Given the description of an element on the screen output the (x, y) to click on. 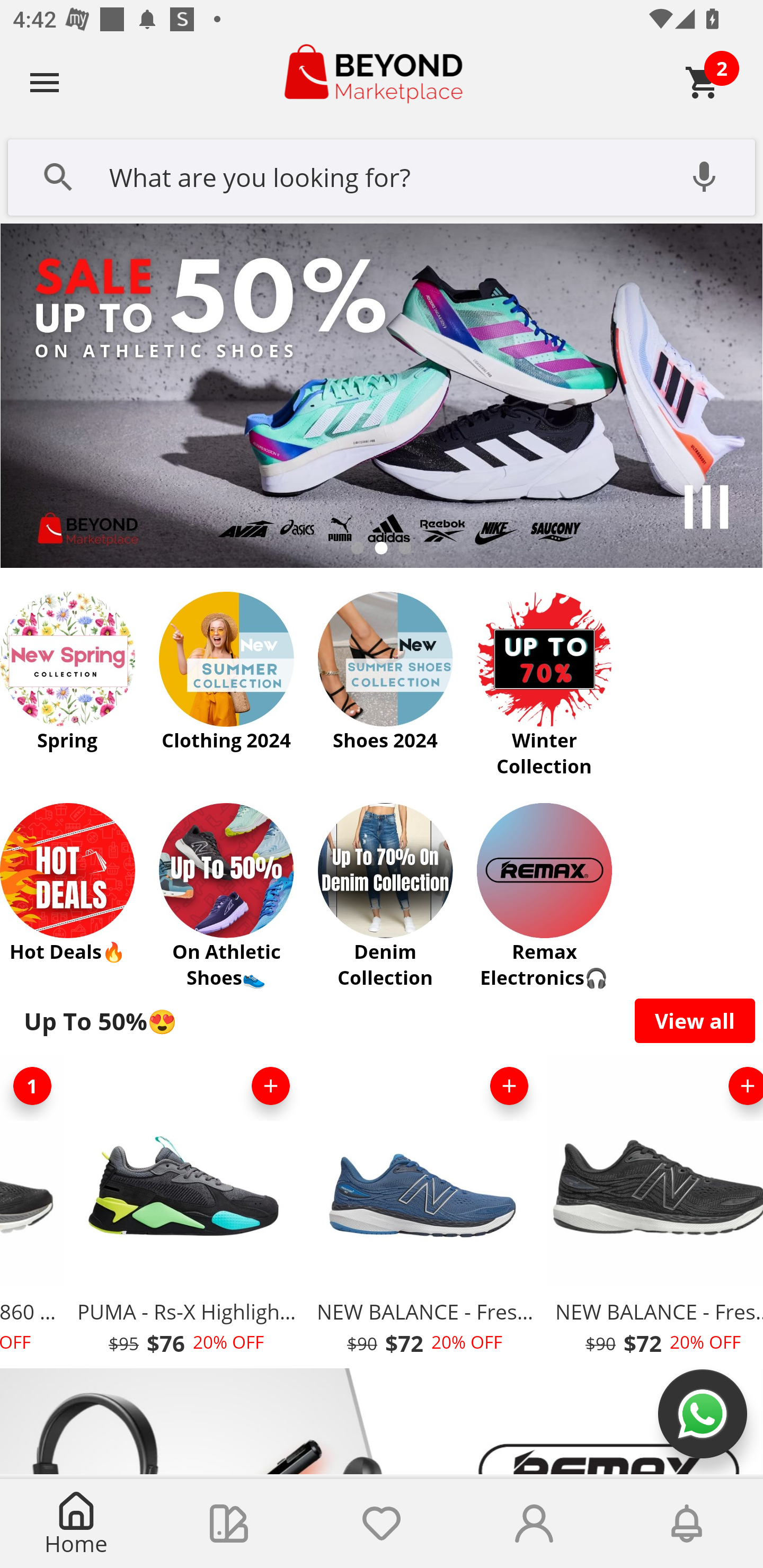
Navigate up (44, 82)
What are you looking for? (381, 175)
View all (694, 1020)
1 (33, 1085)
Collections (228, 1523)
Wishlist (381, 1523)
Account (533, 1523)
Notifications (686, 1523)
